Given the description of an element on the screen output the (x, y) to click on. 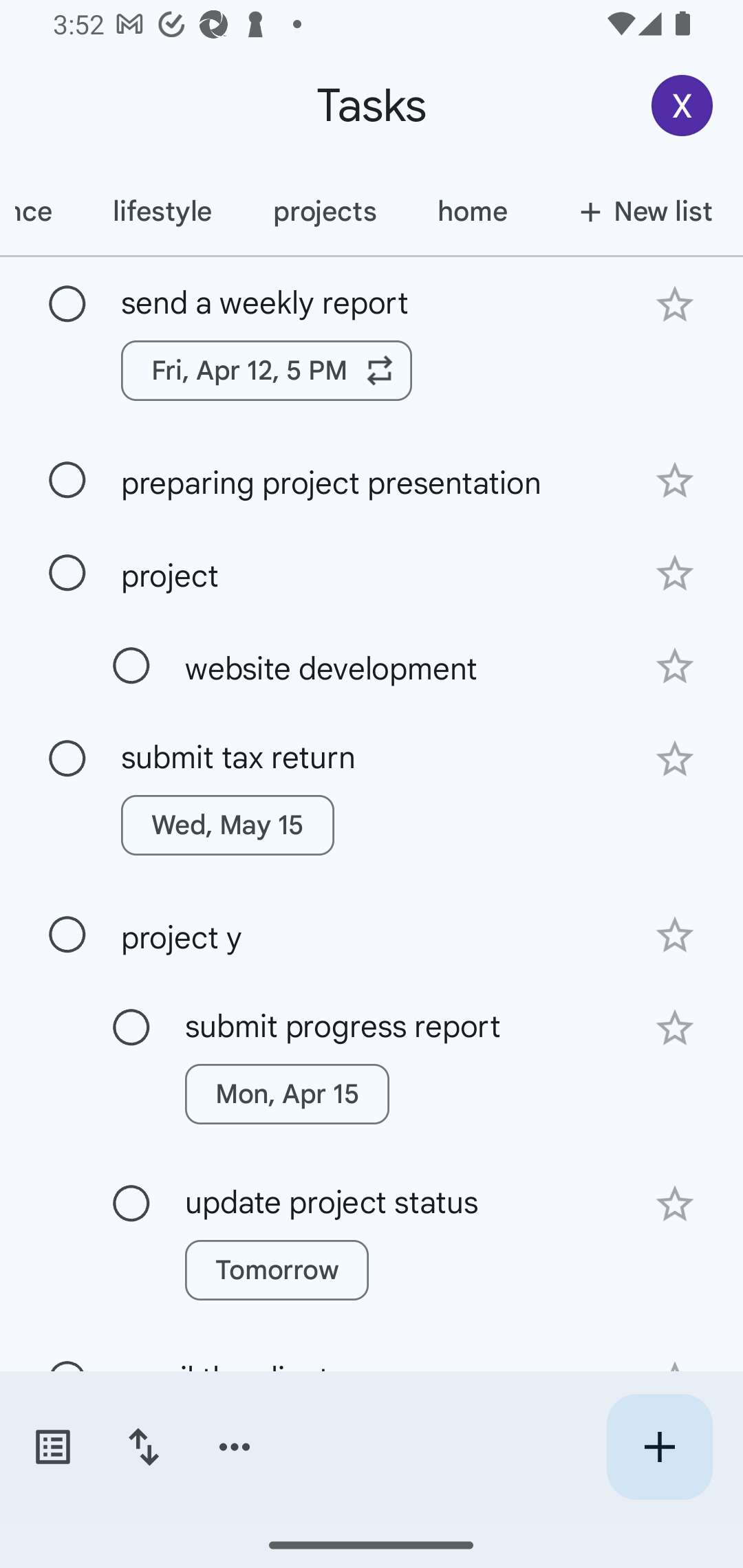
lifestyle (161, 211)
projects (324, 211)
home (471, 211)
New list (640, 211)
Add star (674, 303)
Mark as complete (67, 304)
Fri, Apr 12, 5 PM (266, 369)
Add star (674, 480)
Mark as complete (67, 480)
Add star (674, 573)
Mark as complete (67, 572)
Add star (674, 665)
Mark as complete (131, 666)
Add star (674, 758)
Mark as complete (67, 759)
Wed, May 15 (227, 824)
Add star (674, 935)
Mark as complete (67, 935)
Add star (674, 1028)
Mark as complete (131, 1027)
Mon, Apr 15 (287, 1093)
Add star (674, 1203)
Mark as complete (131, 1204)
Tomorrow (276, 1269)
Switch task lists (52, 1447)
Create new task (659, 1446)
Change sort order (143, 1446)
More options (234, 1446)
